Given the description of an element on the screen output the (x, y) to click on. 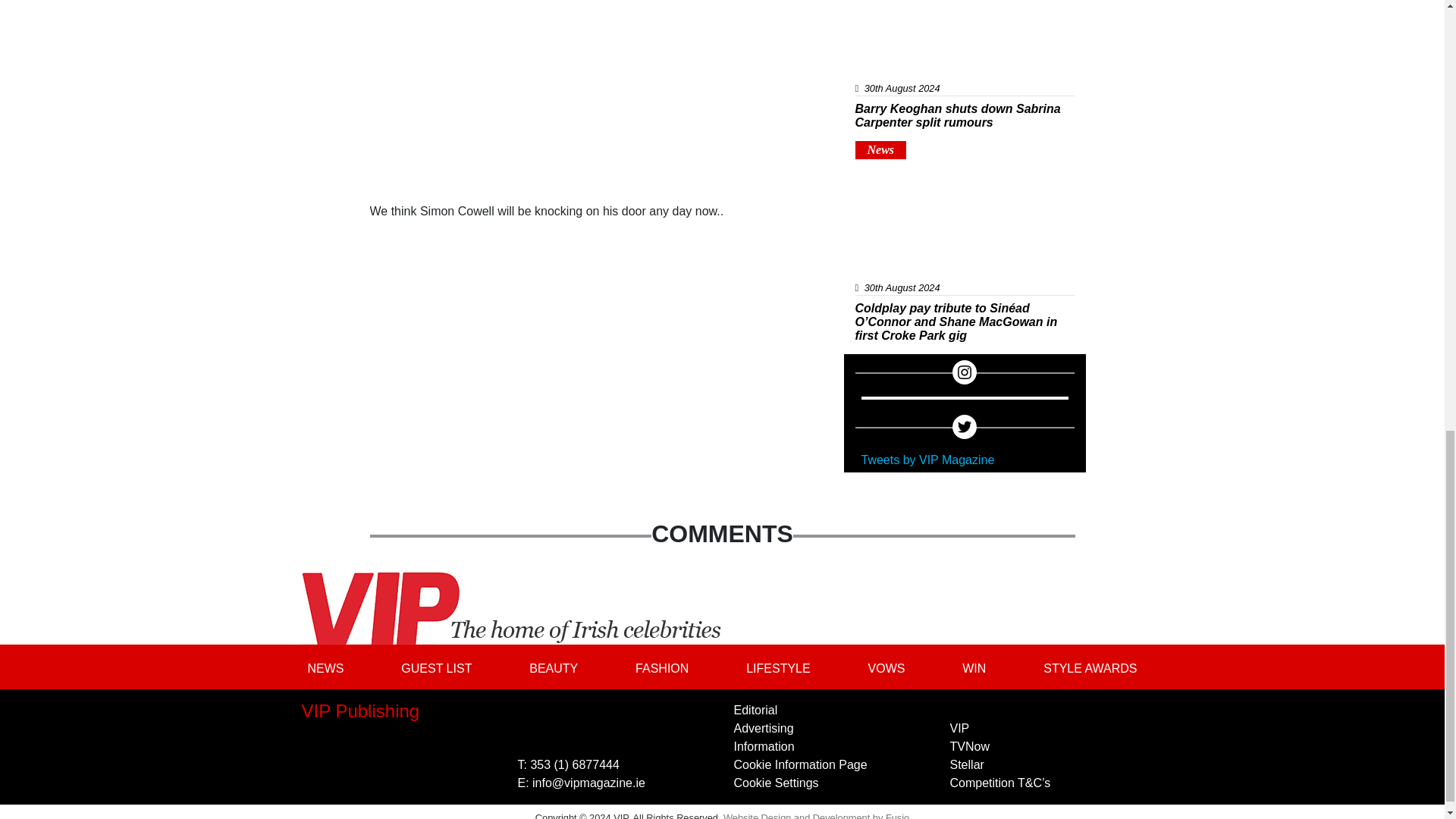
News (881, 149)
FASHION (661, 667)
NEWS (325, 667)
BEAUTY (552, 667)
Tweets by VIP Magazine (927, 459)
GUEST LIST (435, 667)
LIFESTYLE (777, 667)
